Given the description of an element on the screen output the (x, y) to click on. 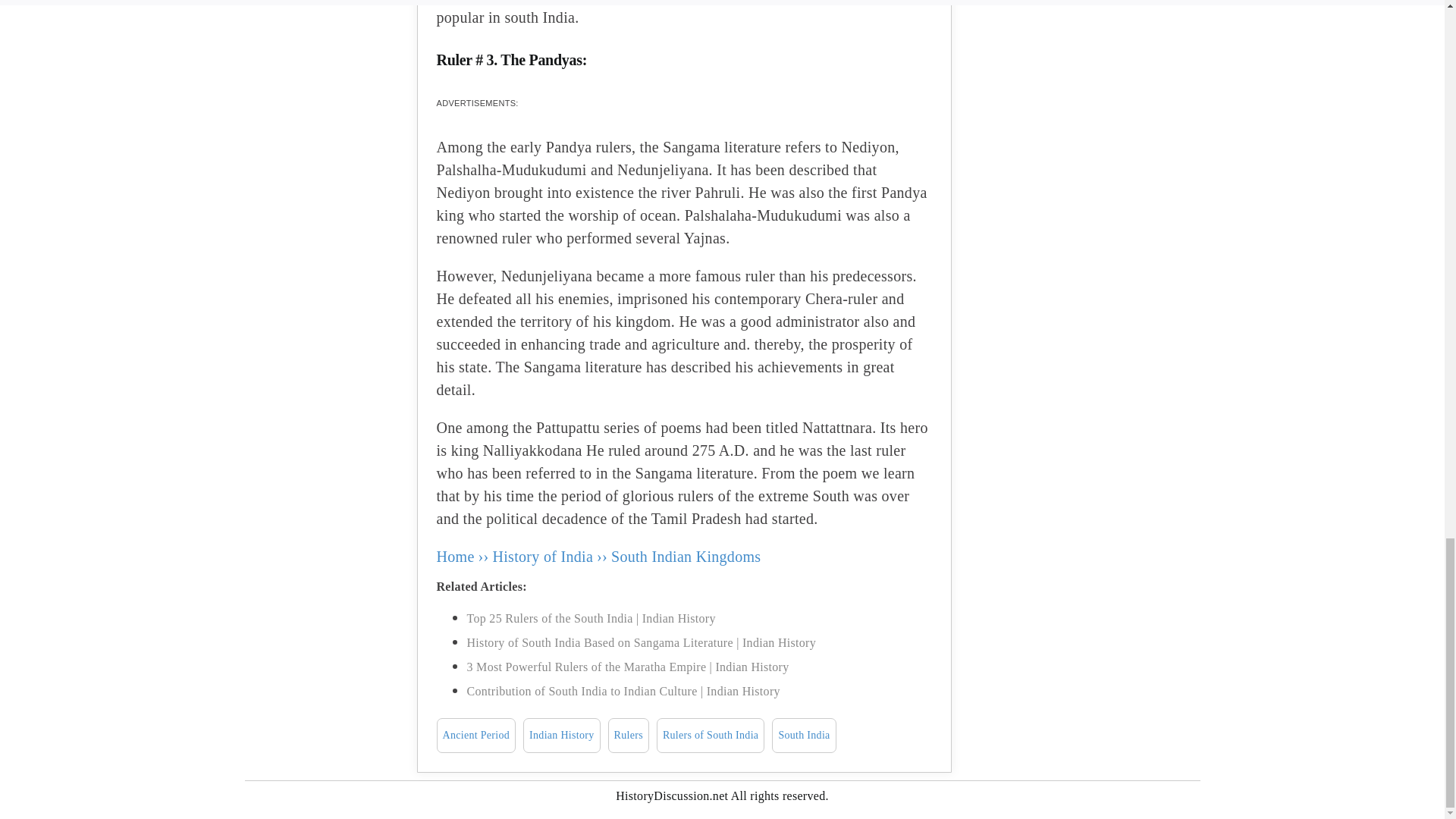
South India (803, 735)
Ancient Period (476, 735)
Rulers (628, 735)
History of India (543, 556)
Home (455, 556)
South Indian Kingdoms (685, 556)
Indian History (560, 735)
Rulers of South India (710, 735)
